Given the description of an element on the screen output the (x, y) to click on. 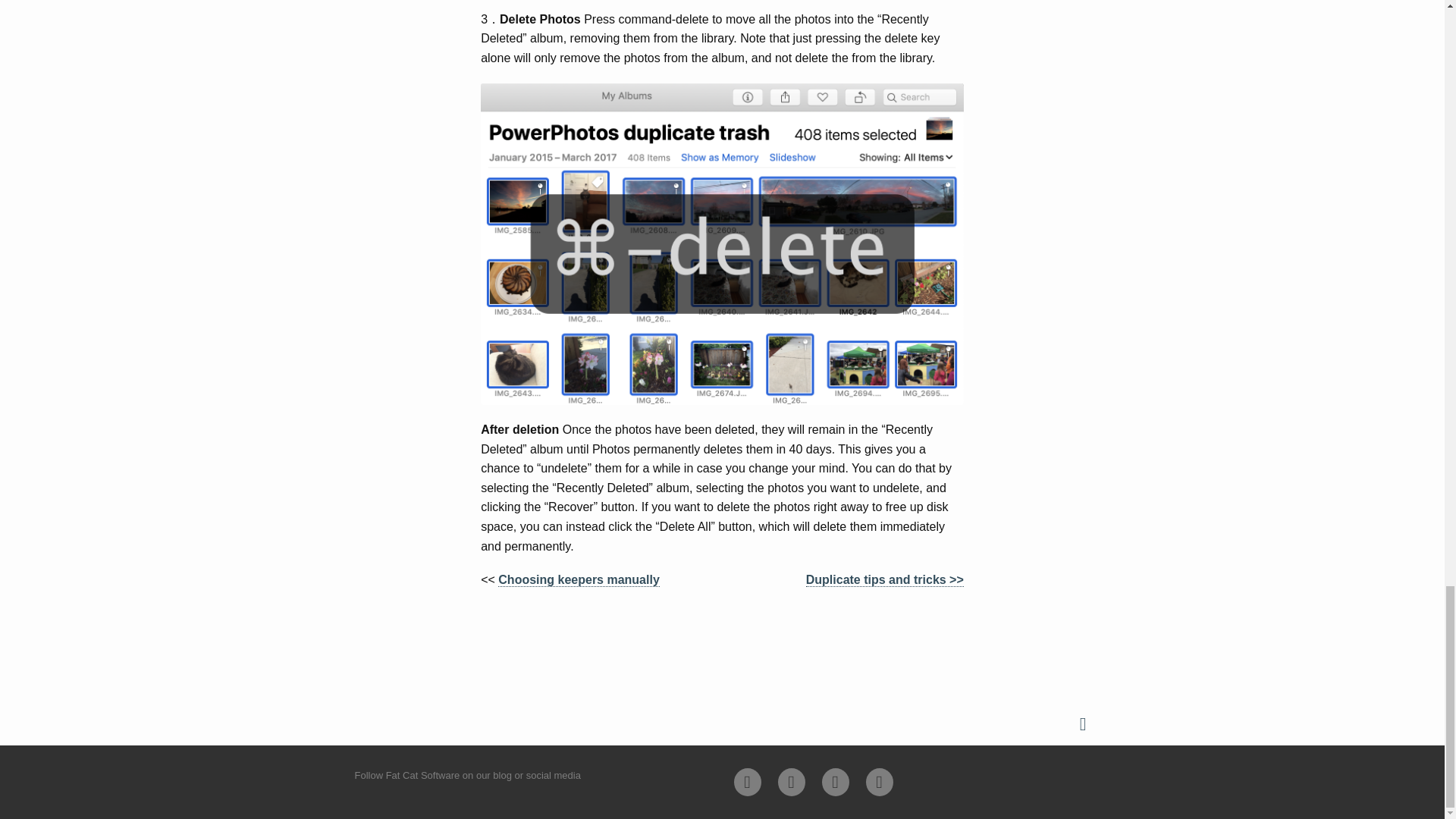
Follow Fat Cat Software on Facebook (835, 782)
Follow Fat Cat Software on Twitter (791, 782)
Choosing keepers manually (578, 580)
Follow Fat Cat Software on Mastodon (879, 782)
Subscribe to the Fat Cat Software blog (747, 782)
